Given the description of an element on the screen output the (x, y) to click on. 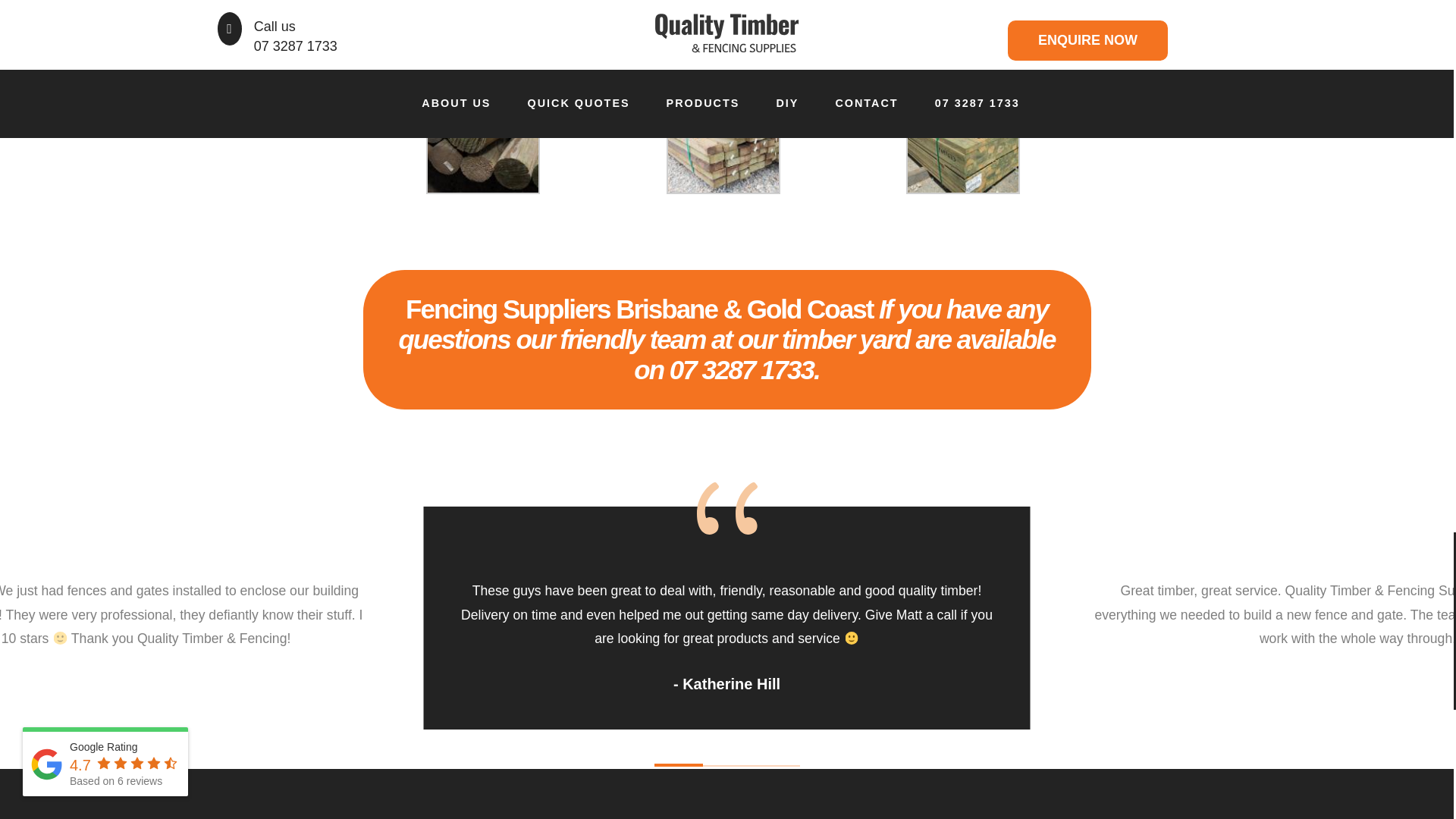
07 3287 1733 (711, 8)
